Given the description of an element on the screen output the (x, y) to click on. 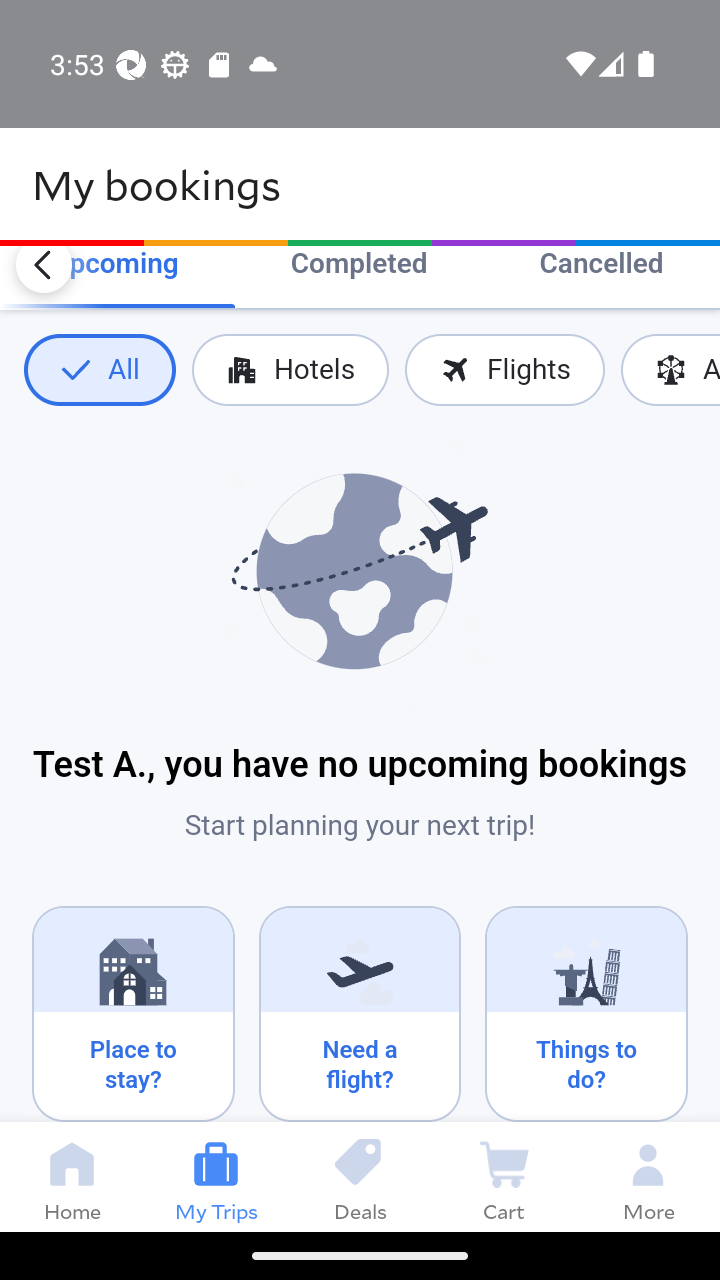
Upcoming (114, 266)
Completed (358, 266)
Cancelled (601, 266)
All (99, 369)
Hotels (290, 369)
Flights (504, 369)
Activities (669, 369)
Home (72, 1176)
My Trips (216, 1176)
Deals (360, 1176)
Cart (504, 1176)
More (648, 1176)
